Given the description of an element on the screen output the (x, y) to click on. 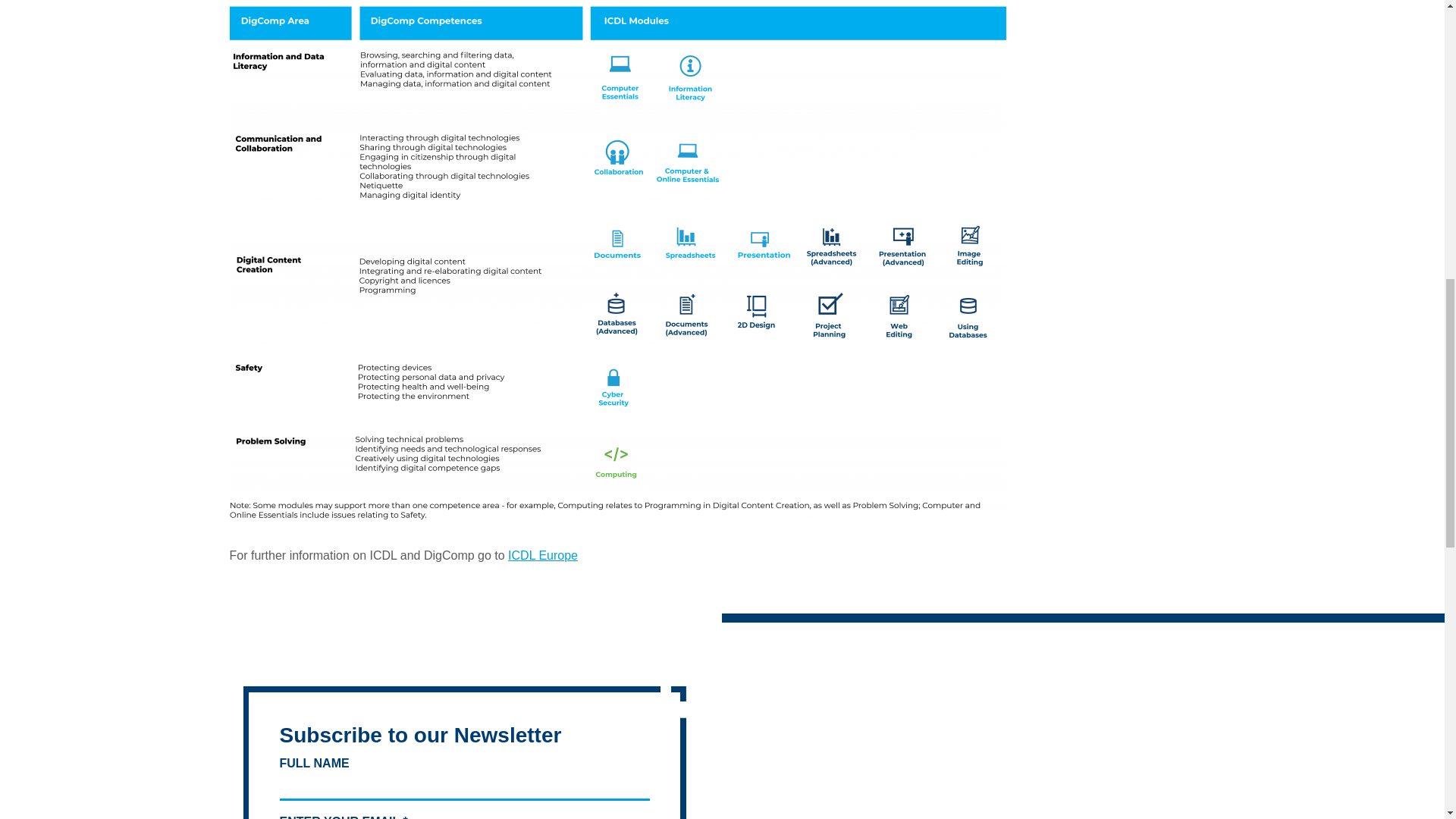
ICDL Europe (543, 554)
